Given the description of an element on the screen output the (x, y) to click on. 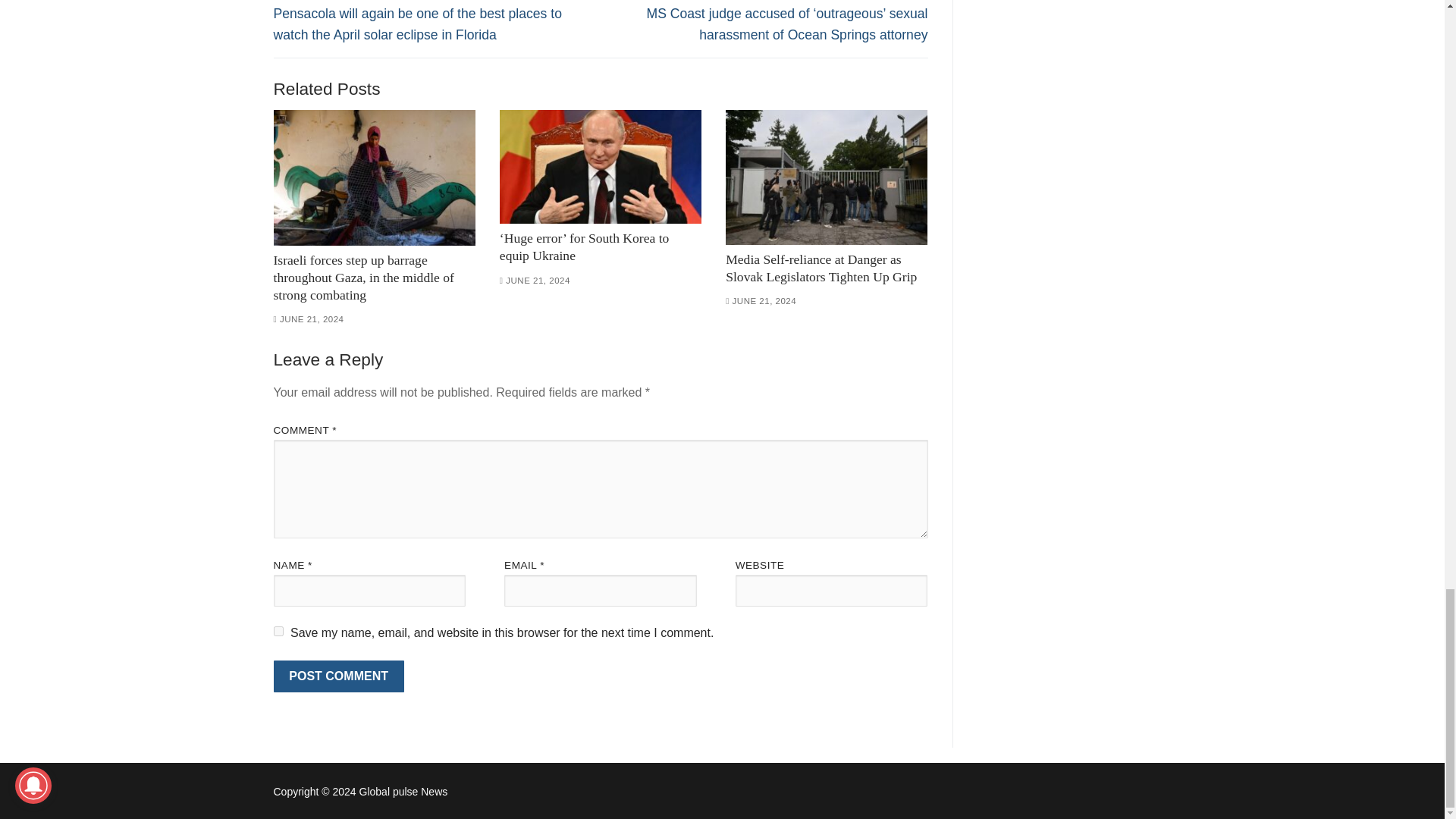
Post Comment (338, 676)
JUNE 21, 2024 (760, 300)
yes (277, 631)
Post Comment (338, 676)
JUNE 21, 2024 (534, 280)
JUNE 21, 2024 (308, 318)
